Given the description of an element on the screen output the (x, y) to click on. 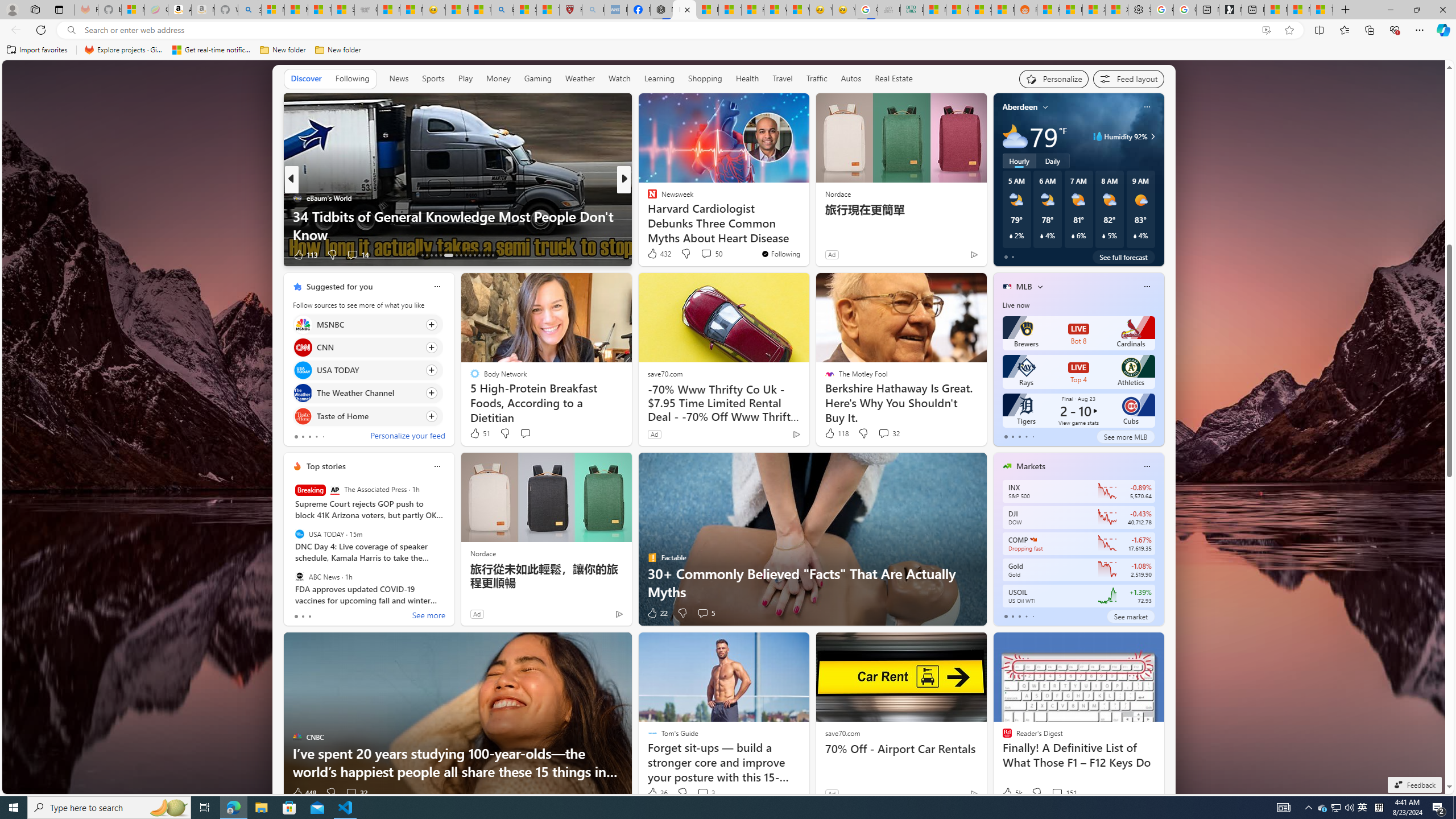
Shopping (705, 79)
Only Earthlings (647, 215)
Gaming (537, 79)
Money (497, 79)
AutomationID: tab-81 (492, 255)
Personalize your feed" (1054, 78)
70% Off - Airport Car Rentals (900, 748)
Start the conversation (525, 433)
Mostly cloudy (1014, 136)
View comments 6 Comment (705, 254)
Enhance video (1266, 29)
